Given the description of an element on the screen output the (x, y) to click on. 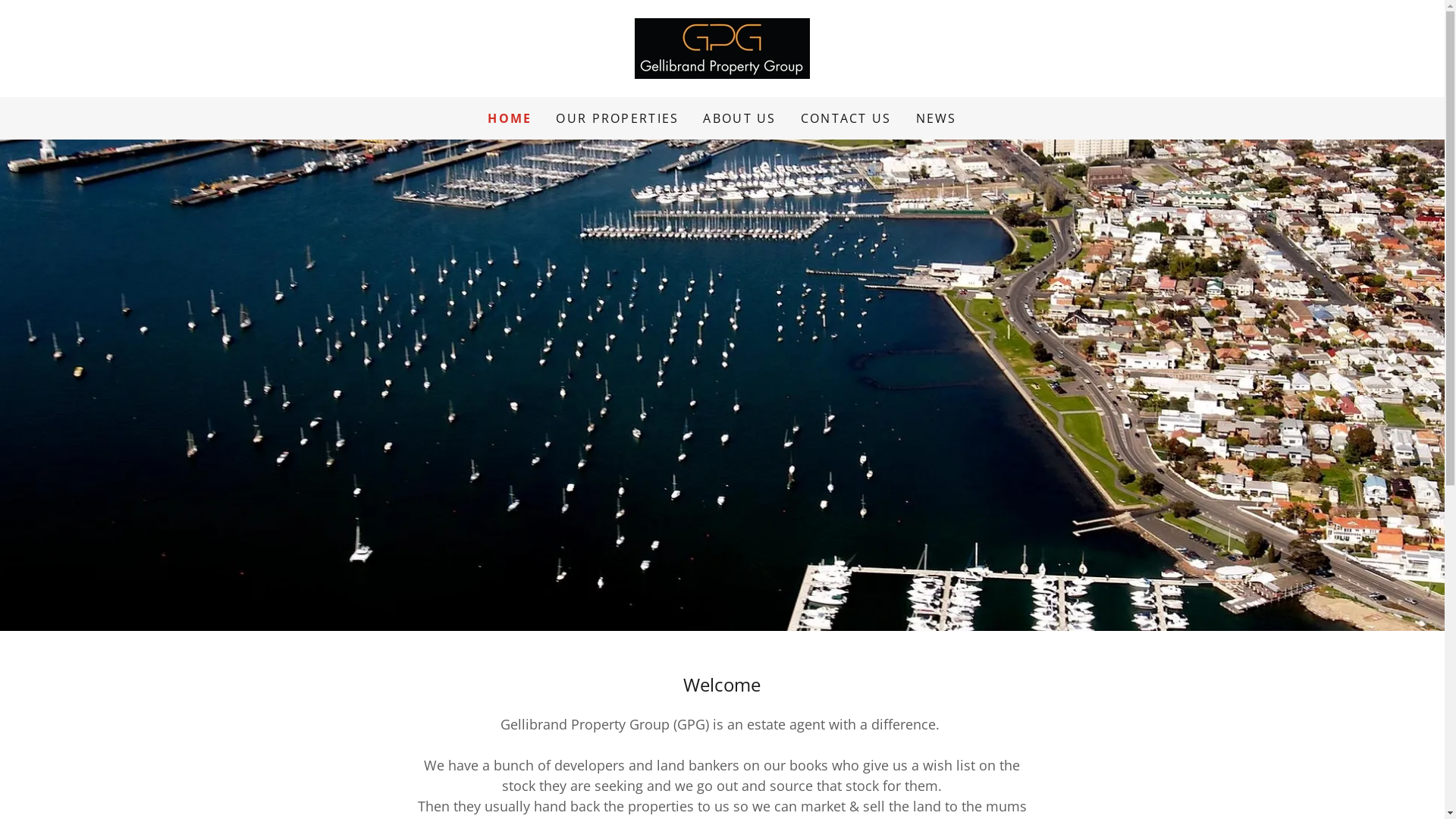
OUR PROPERTIES Element type: text (617, 117)
NEWS Element type: text (936, 117)
HOME Element type: text (509, 118)
CONTACT US Element type: text (846, 117)
Gellibrand Property Group Element type: hover (721, 46)
ABOUT US Element type: text (739, 117)
